Given the description of an element on the screen output the (x, y) to click on. 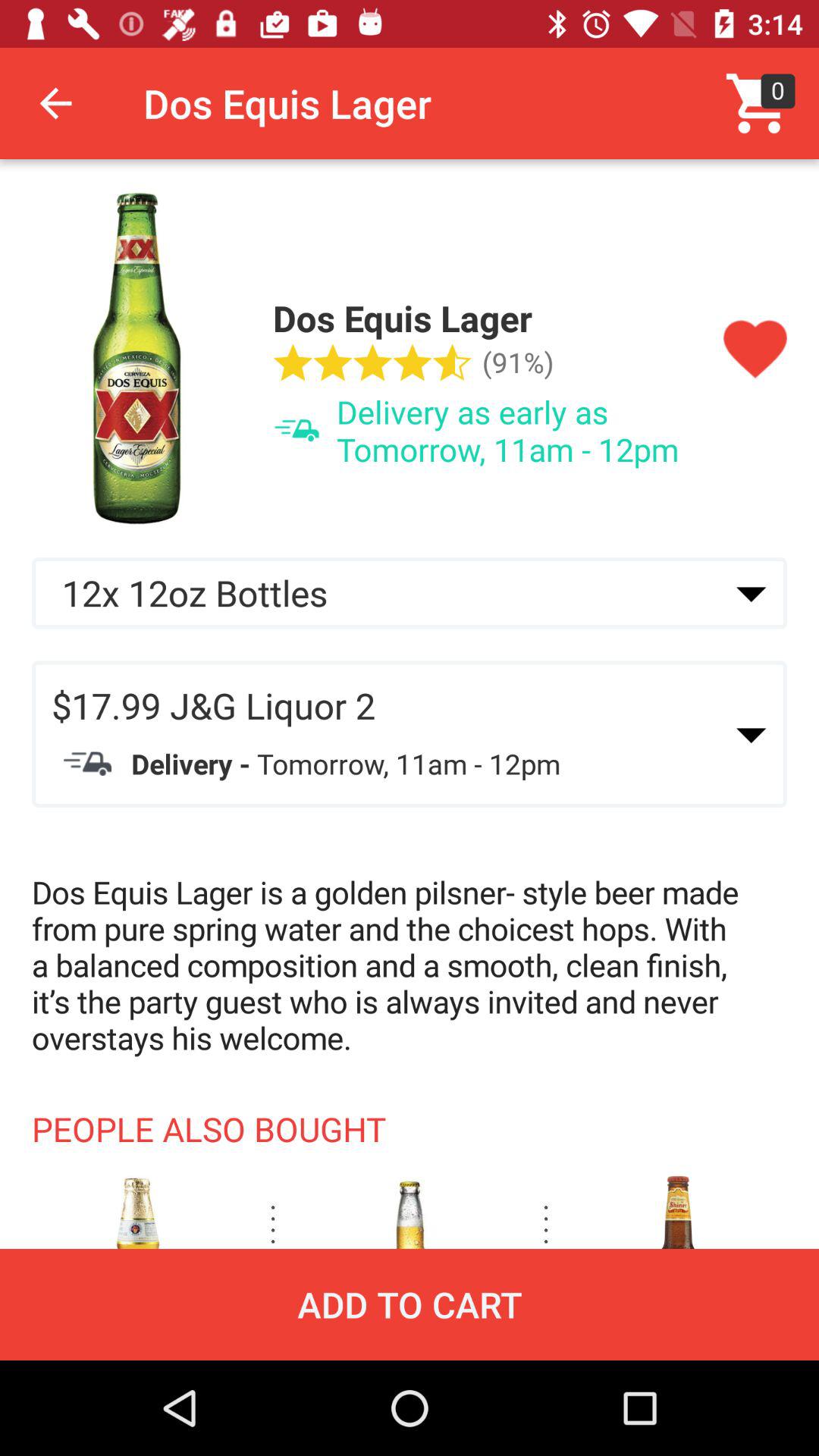
like the product (755, 350)
